Given the description of an element on the screen output the (x, y) to click on. 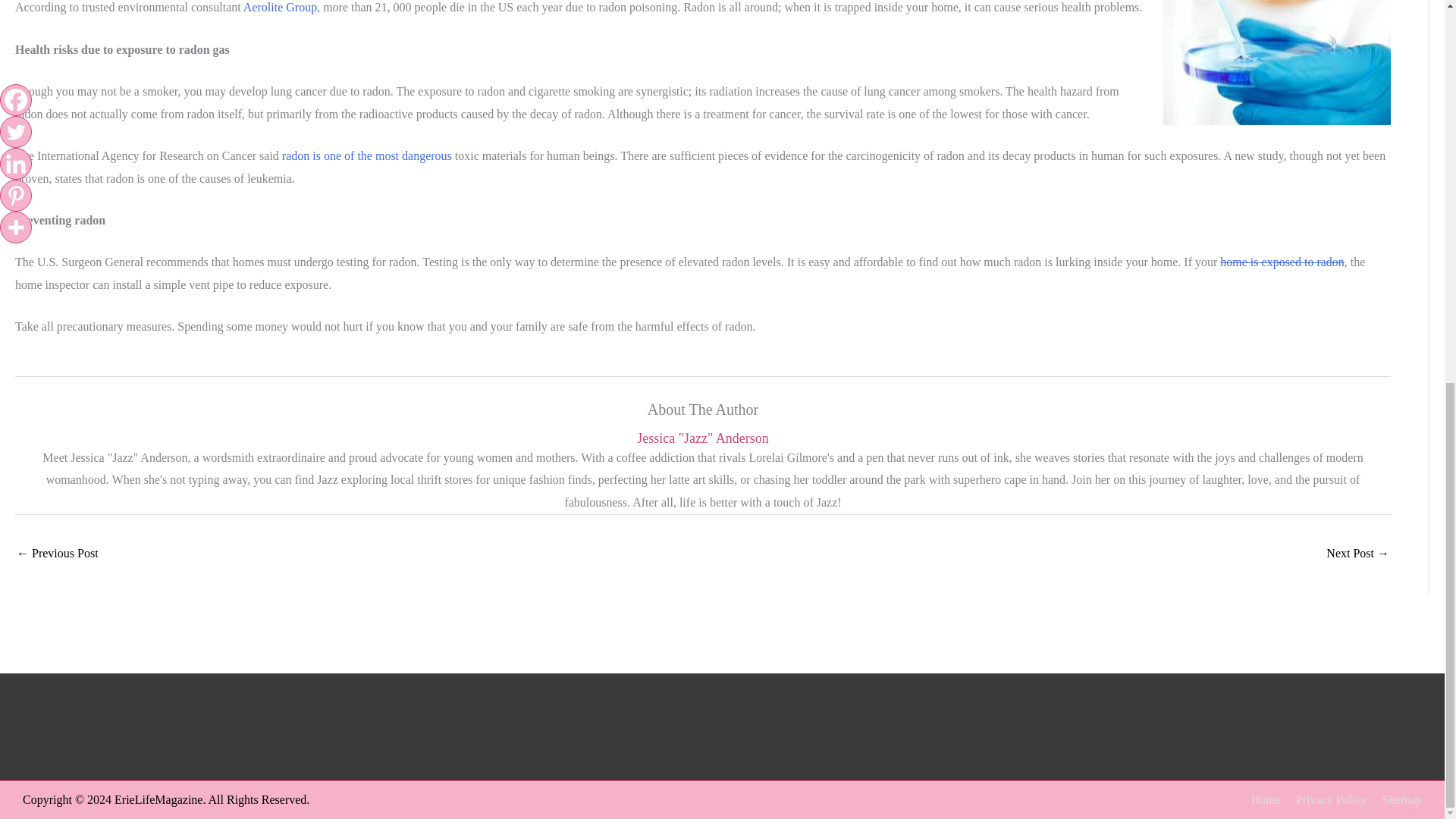
home is exposed to radon (1281, 261)
radon is one of the most dangerous (366, 155)
Aerolitegroup.com (280, 6)
health risk of radon (1276, 62)
Ncbi.nlm.nih.gov (366, 155)
Sitemap (1396, 799)
Qualifying for the EB-5 Immigration Visa (1357, 554)
Privacy Policy (1325, 799)
AC Units: Myths vs. Truths (57, 554)
Home (1260, 799)
